Given the description of an element on the screen output the (x, y) to click on. 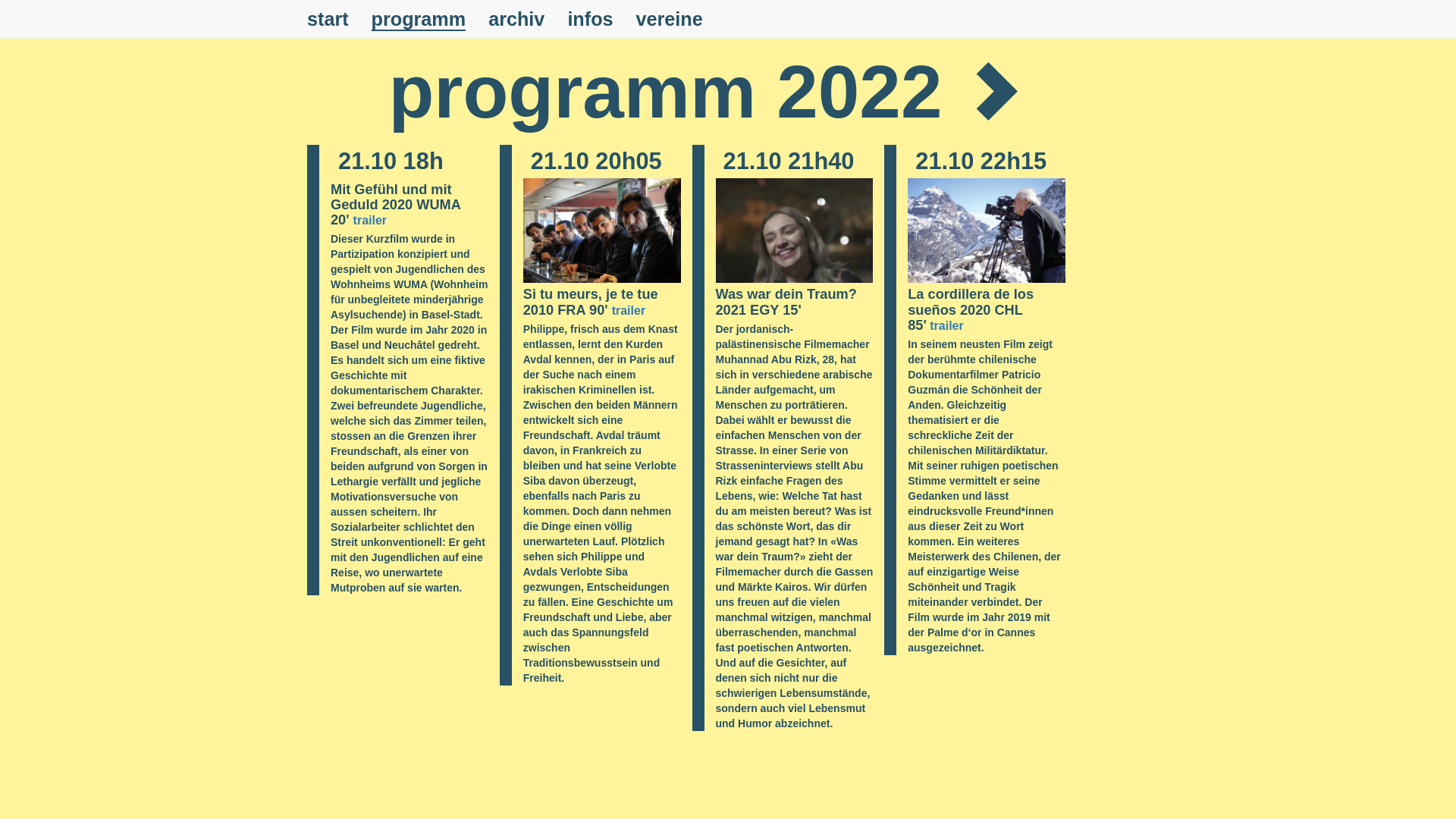
programm Element type: text (418, 18)
trailer Element type: text (946, 325)
vereine Element type: text (669, 18)
trailer Element type: text (369, 219)
infos Element type: text (589, 18)
archiv Element type: text (515, 18)
start Element type: text (327, 18)
trailer Element type: text (628, 309)
